Given the description of an element on the screen output the (x, y) to click on. 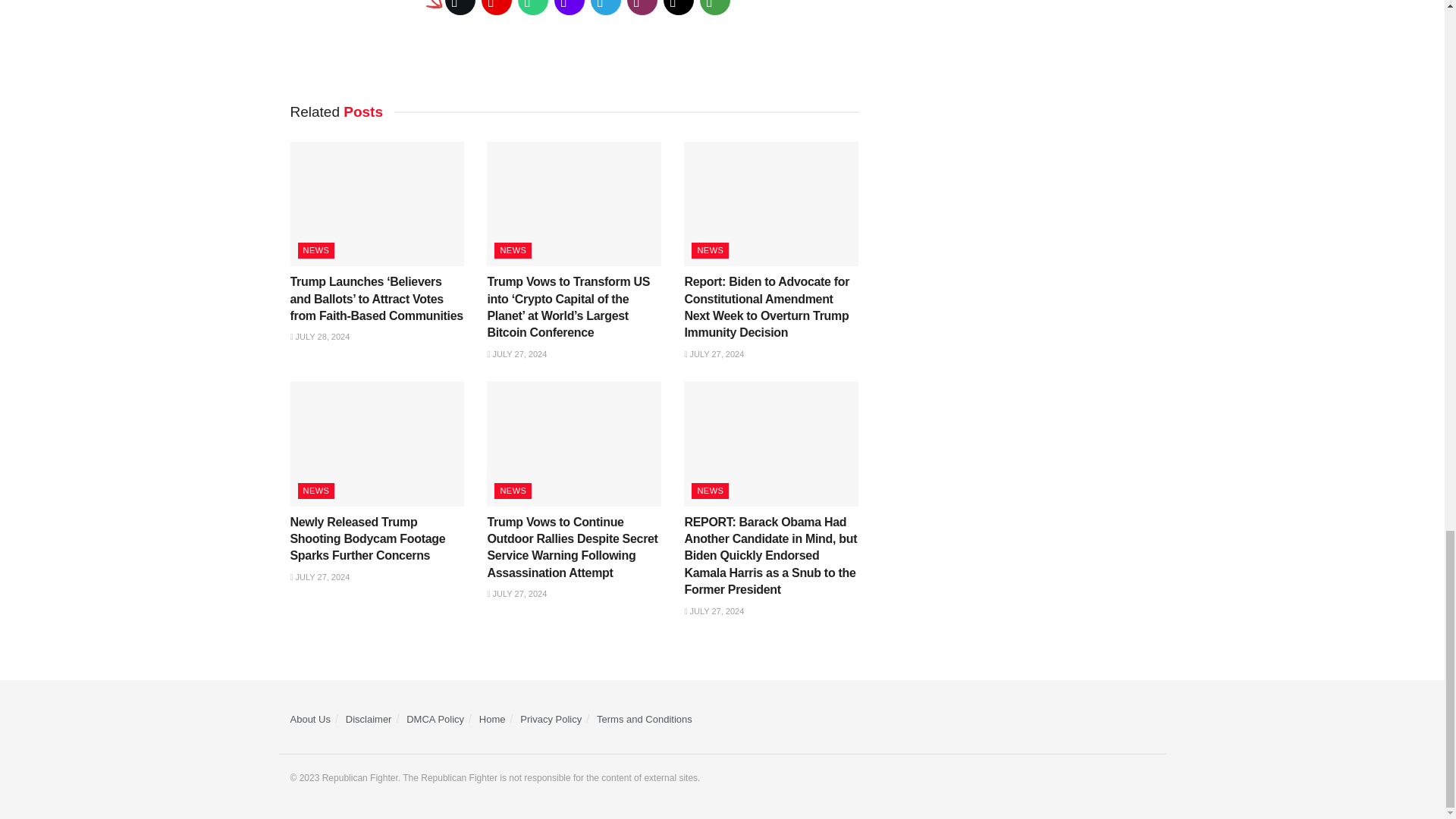
Parler (642, 9)
Gab (533, 9)
Truth Social (569, 9)
Telegram (606, 9)
GETTR (497, 9)
Threads (679, 9)
More Options (715, 9)
